Given the description of an element on the screen output the (x, y) to click on. 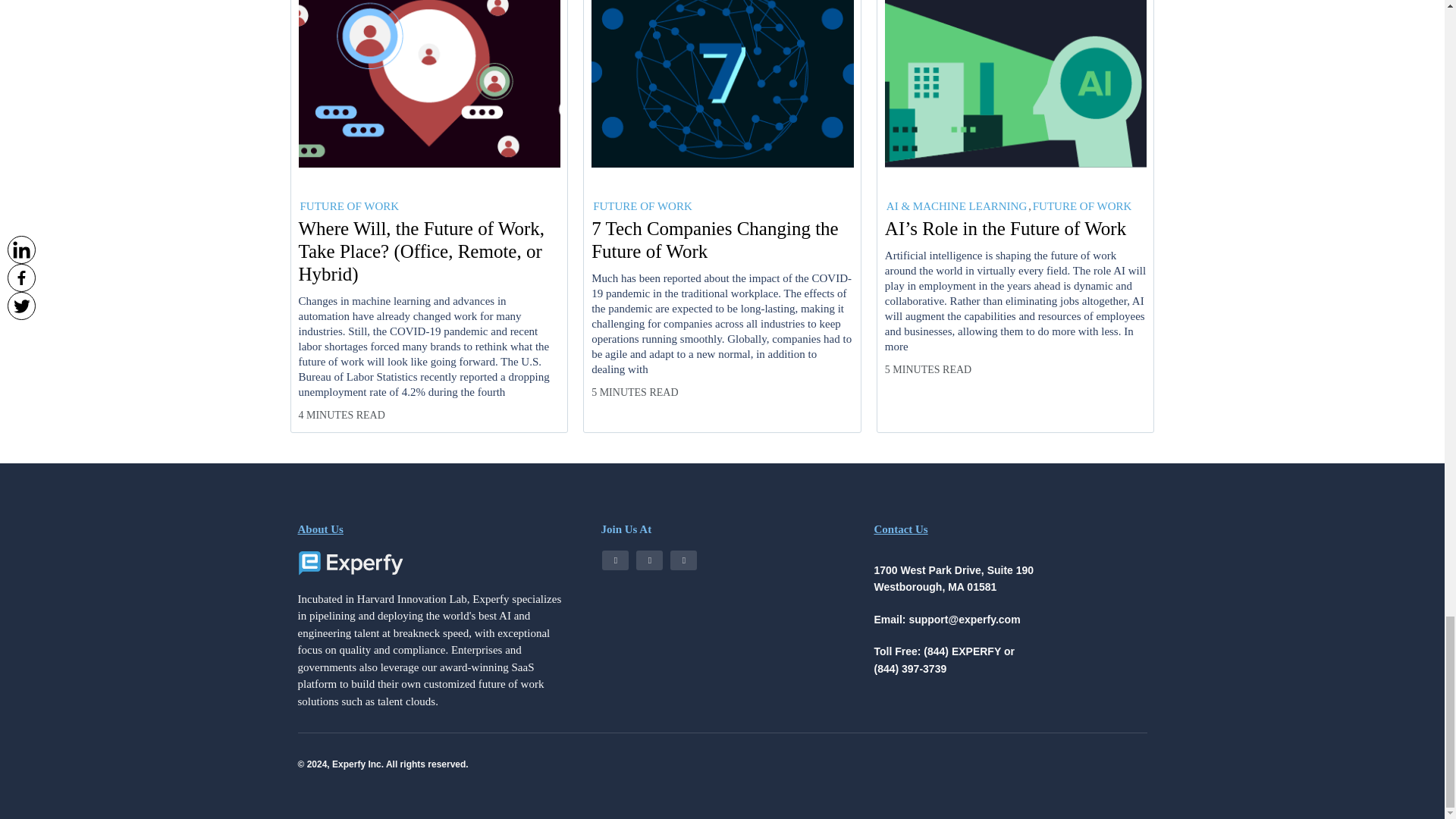
7 Tech Companies Changing the Future of Work (722, 239)
FUTURE OF WORK (642, 205)
FUTURE OF WORK (348, 205)
